Given the description of an element on the screen output the (x, y) to click on. 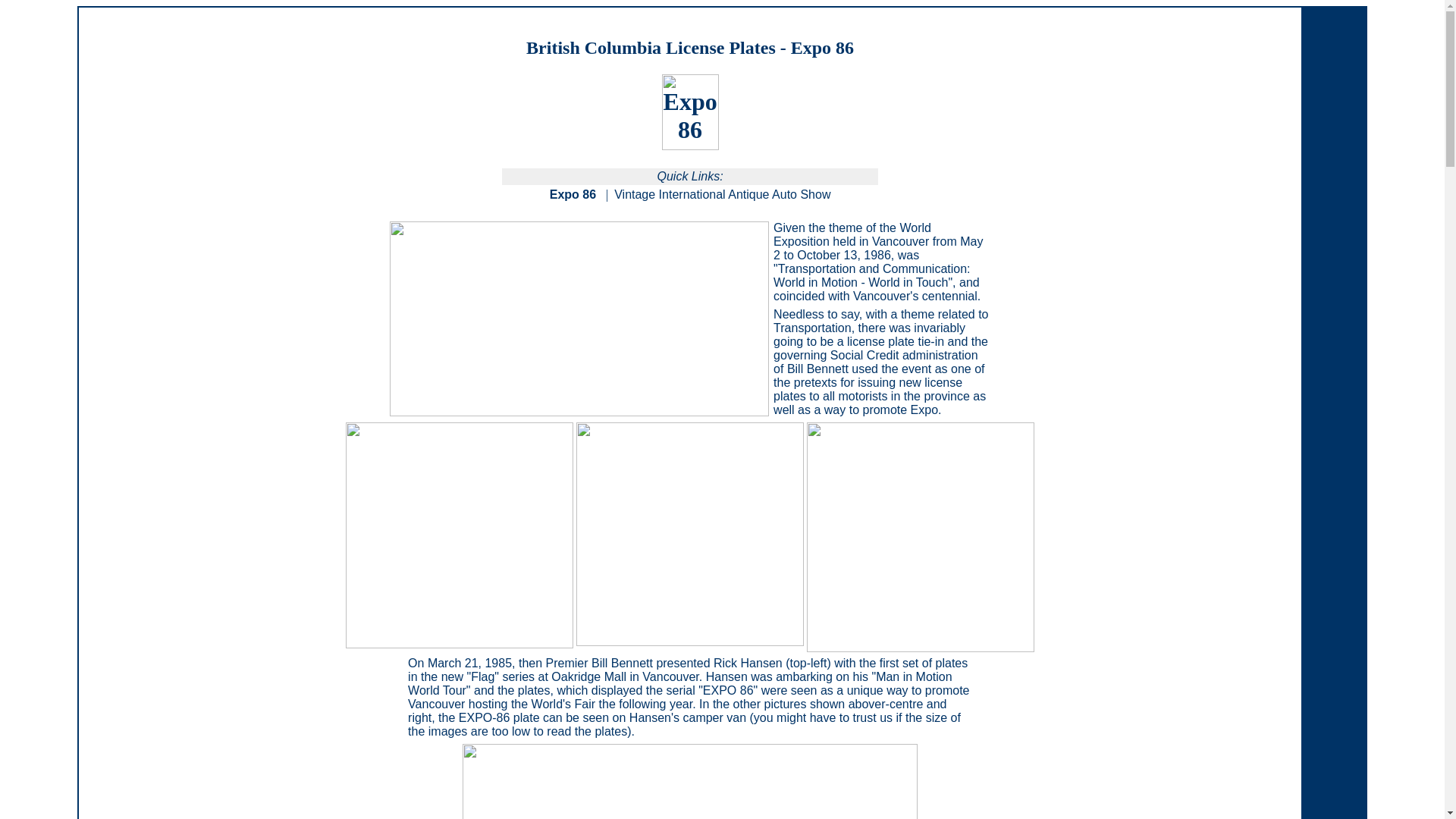
Vintage International Antique Auto Show Element type: text (722, 194)
  Element type: text (599, 194)
